Given the description of an element on the screen output the (x, y) to click on. 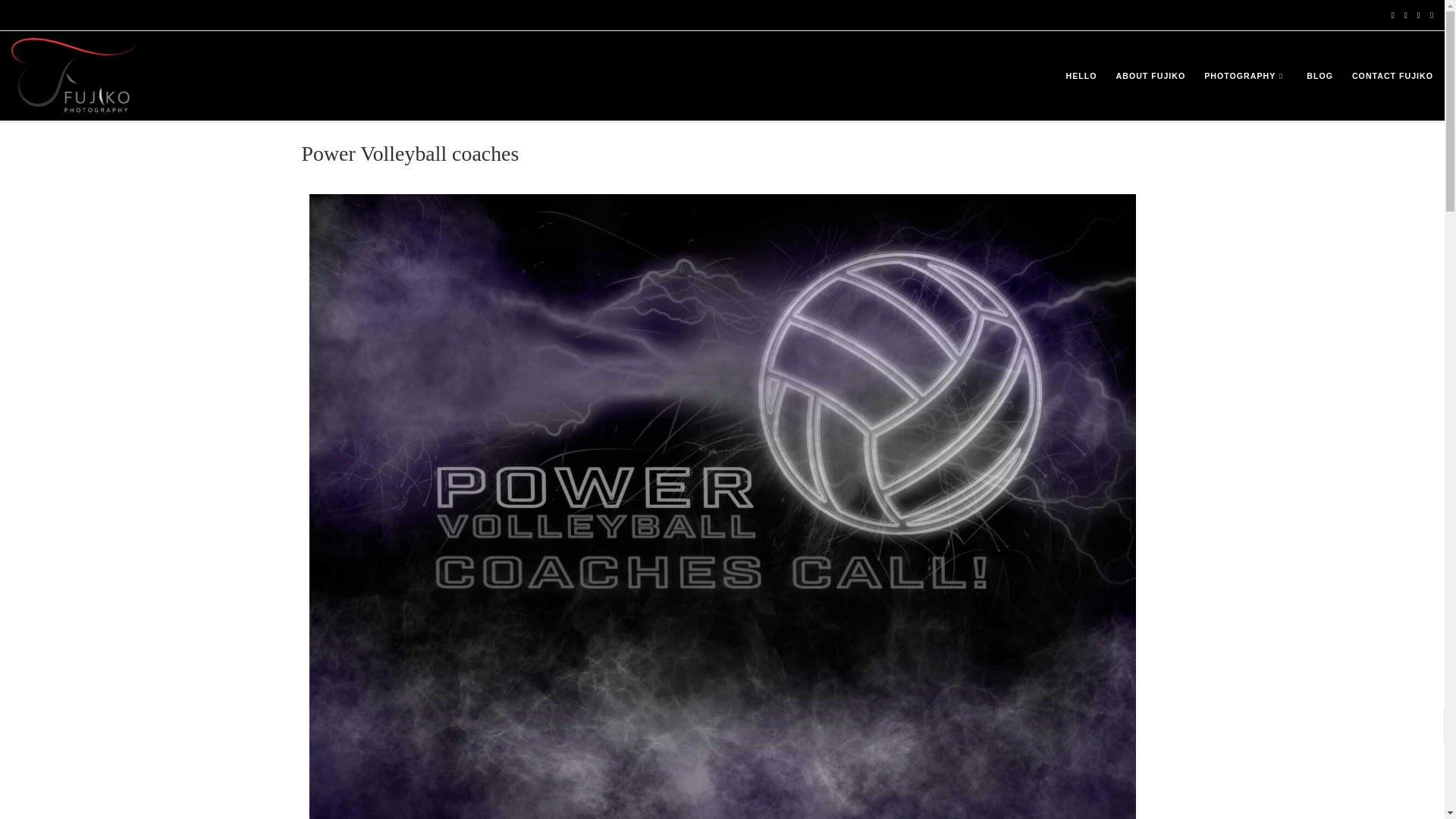
ABOUT FUJIKO (1149, 75)
BLOG (1319, 75)
CONTACT FUJIKO (1393, 75)
HELLO (1081, 75)
Skip to content (50, 18)
PHOTOGRAPHY (1245, 75)
